Given the description of an element on the screen output the (x, y) to click on. 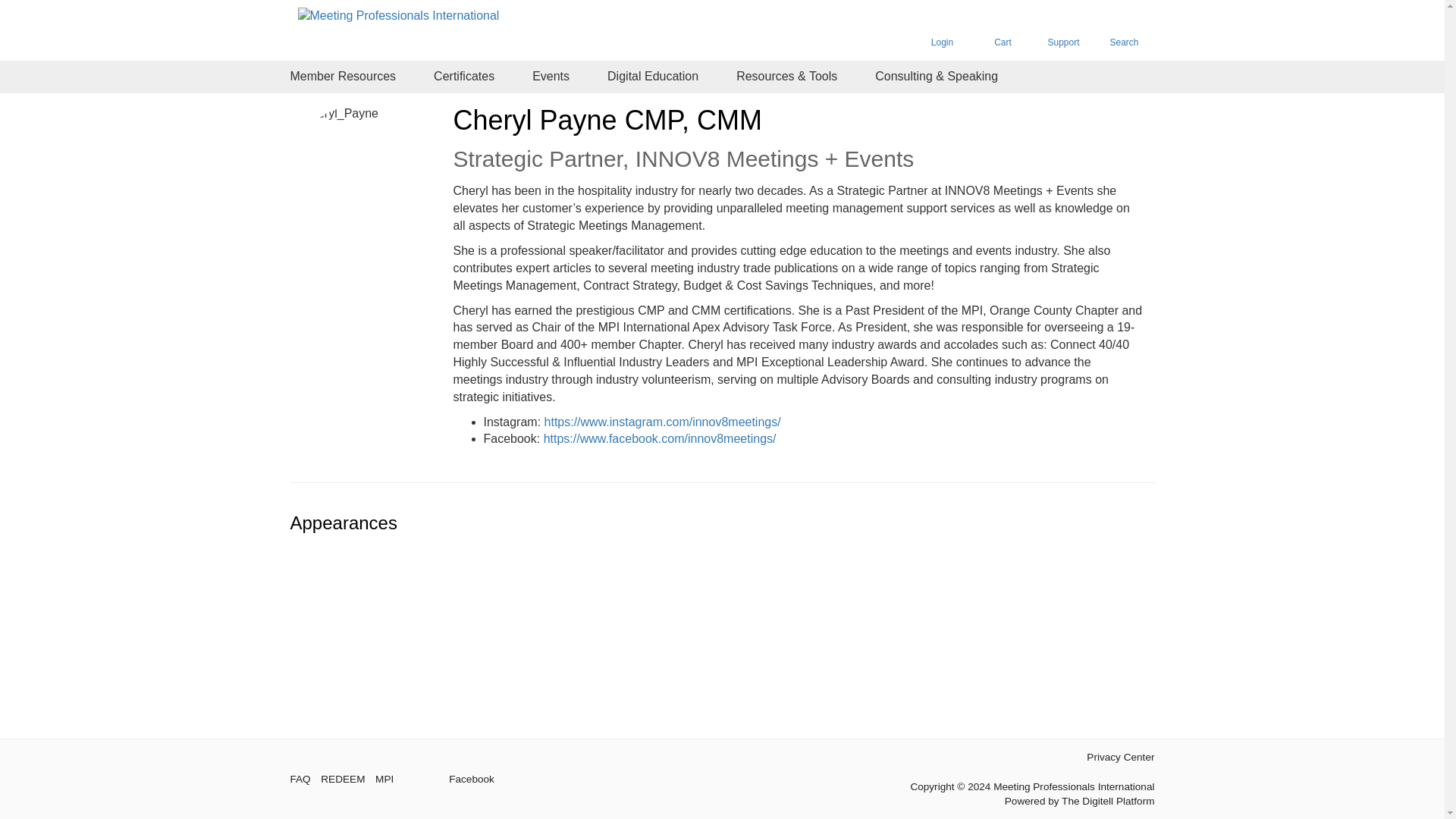
Certificates (463, 76)
FAQ (299, 779)
Member Resources (342, 76)
Events (550, 76)
Facebook (470, 779)
REDEEM (342, 779)
FAQ (299, 779)
Login (941, 30)
Cart (1002, 30)
Support (1062, 30)
